Given the description of an element on the screen output the (x, y) to click on. 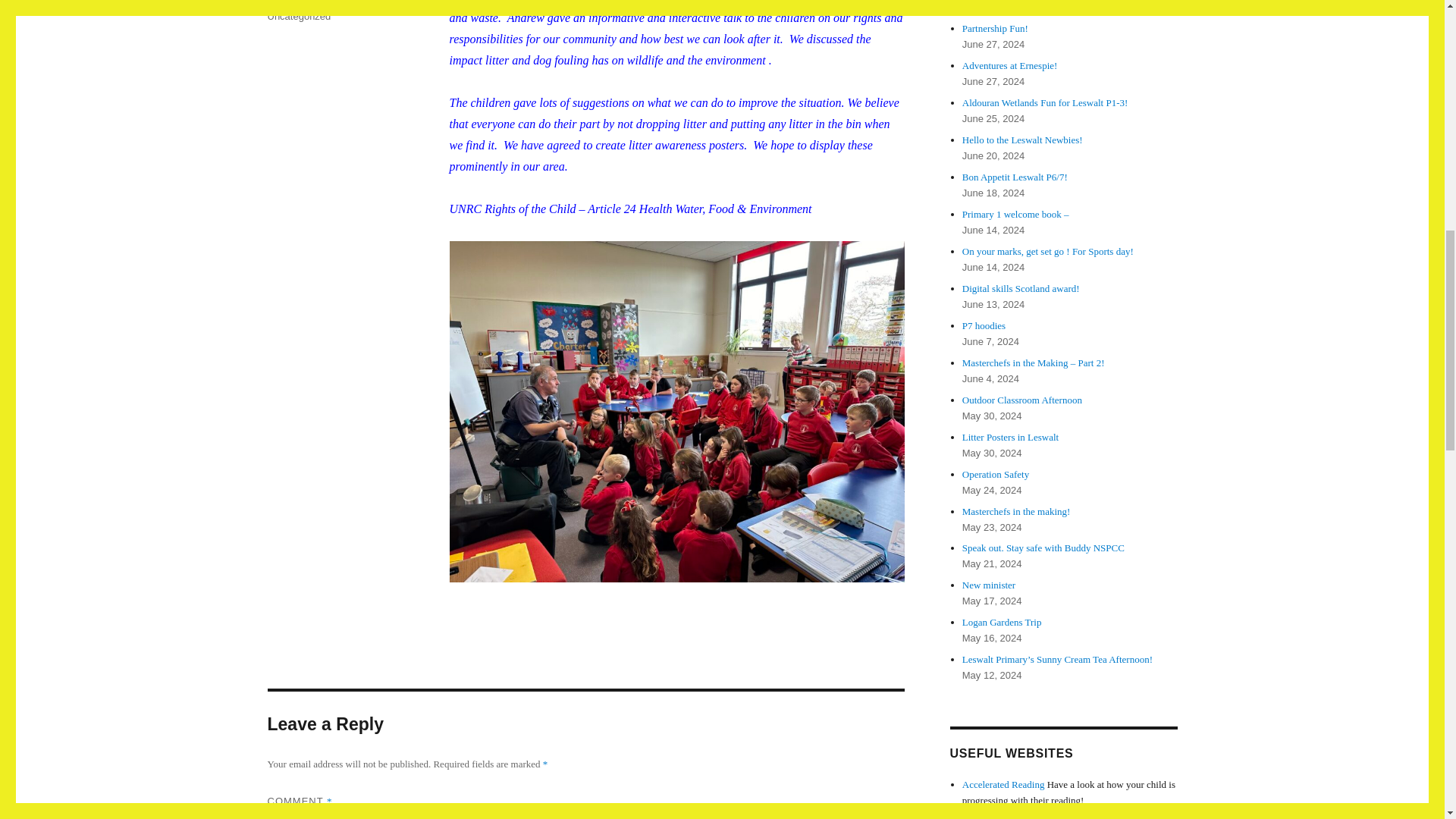
Authority education handbook (994, 814)
Speak out. Stay safe with Buddy NSPCC (1043, 547)
Uncategorized (298, 16)
Hello to the Leswalt Newbies! (1022, 139)
Masterchefs in the making! (1016, 511)
Operation Safety (995, 473)
Partnership Fun! (994, 28)
New minister (988, 584)
